Given the description of an element on the screen output the (x, y) to click on. 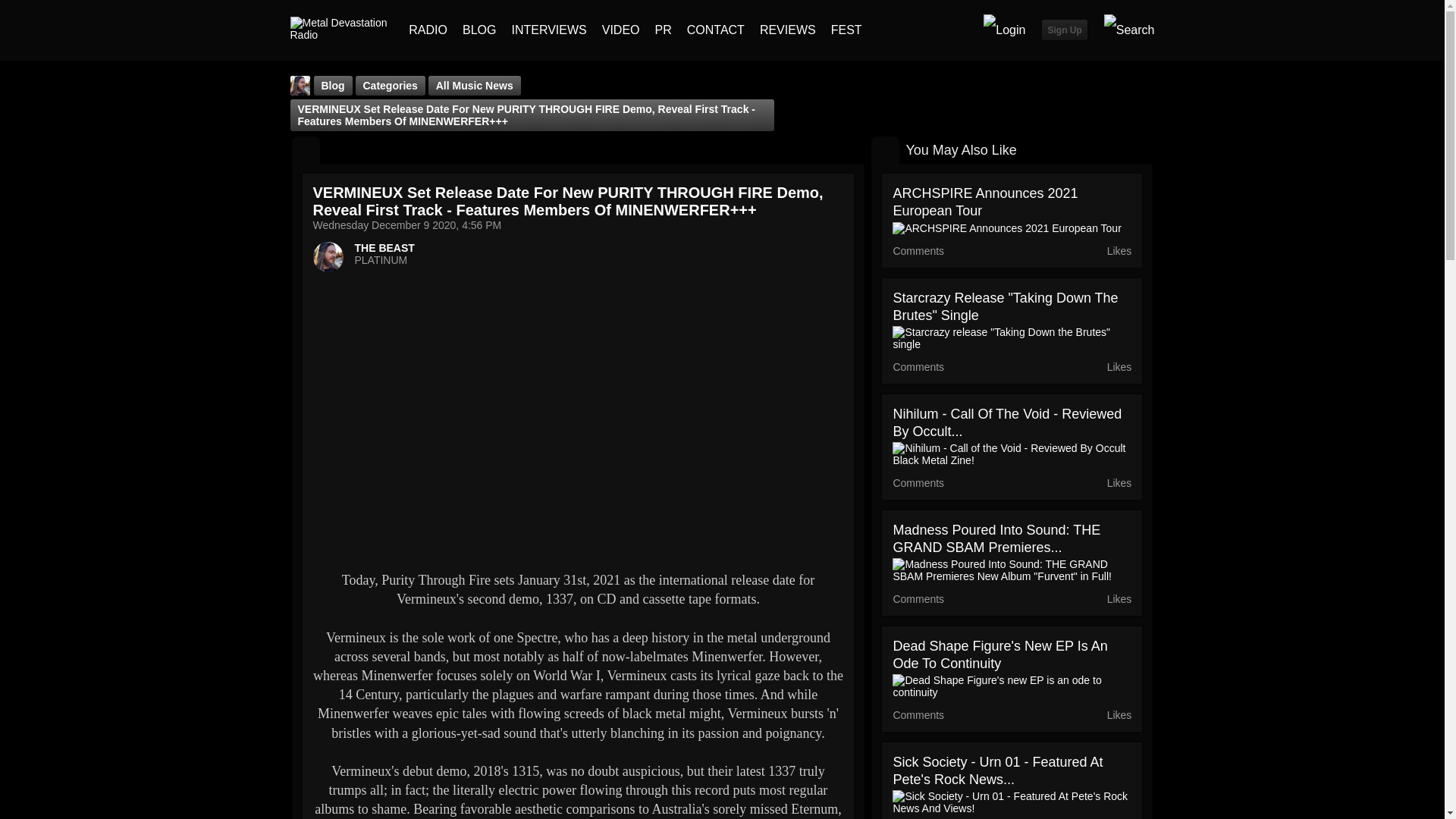
Blog (333, 85)
THE BEAST (384, 247)
THE BEAST (298, 85)
Categories (390, 85)
Sign Up (1064, 29)
Search (1128, 30)
Blog (305, 150)
RADIO (427, 29)
BLOG (479, 29)
Metal Devastation Radio (341, 28)
REVIEWS (787, 29)
All Music News (474, 85)
CONTACT (715, 29)
Search (1128, 29)
